Given the description of an element on the screen output the (x, y) to click on. 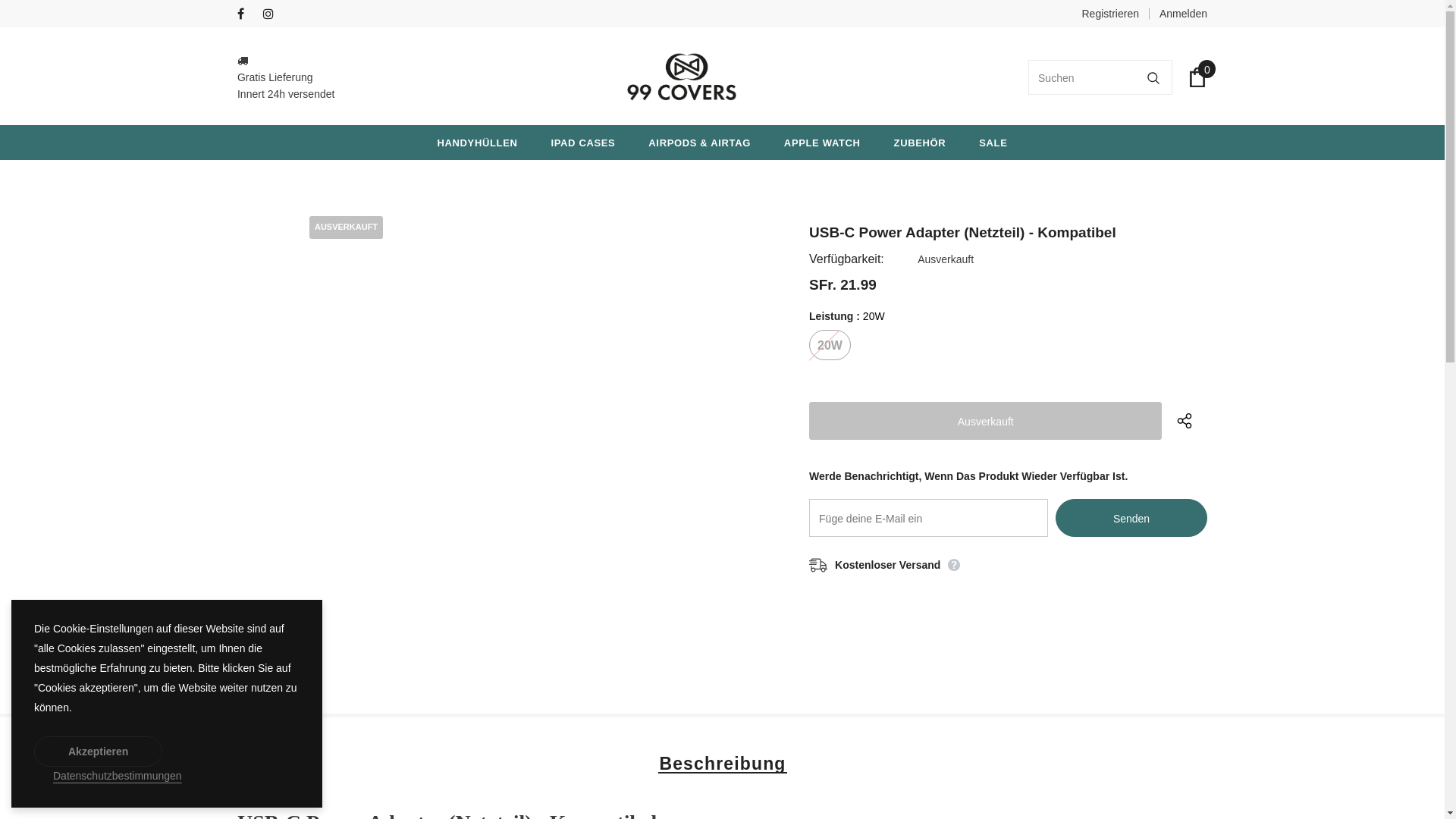
Ausverkauft Element type: text (985, 420)
AIRPODS & AIRTAG Element type: text (699, 142)
APPLE WATCH Element type: text (822, 142)
Facebook Element type: hover (246, 14)
IPAD CASES Element type: text (582, 142)
Registrieren Element type: text (1109, 13)
Anmelden Element type: text (1177, 13)
Instagram Element type: hover (272, 14)
Akzeptieren Element type: text (98, 751)
0 Element type: text (1197, 77)
Logo Element type: hover (681, 76)
Senden Element type: text (1131, 517)
Beschreibung Element type: text (721, 763)
SALE Element type: text (993, 142)
Datenschutzbestimmungen Element type: text (117, 775)
